Given the description of an element on the screen output the (x, y) to click on. 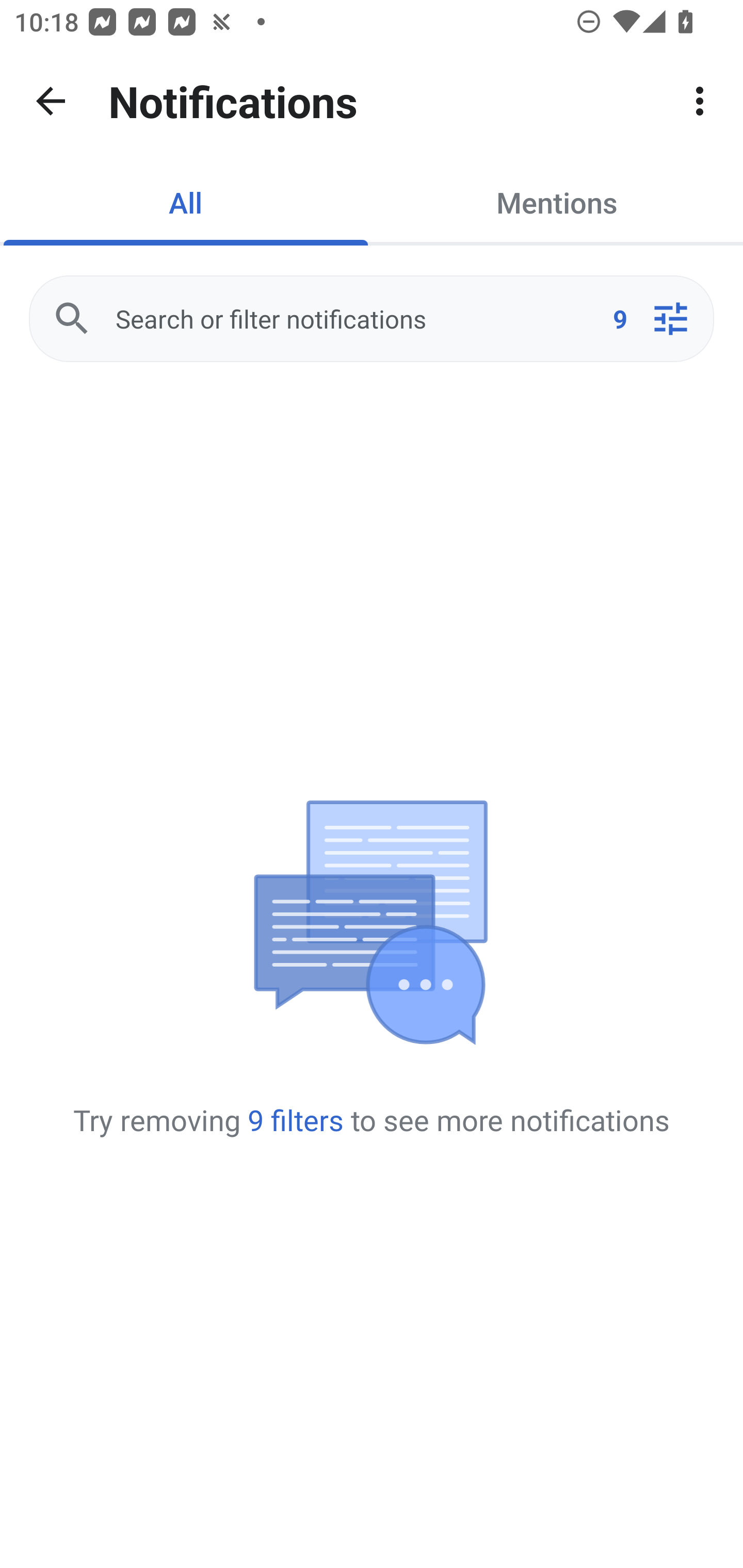
Navigate up (50, 101)
More (699, 101)
Mentions (557, 202)
Notification filter (670, 318)
